Given the description of an element on the screen output the (x, y) to click on. 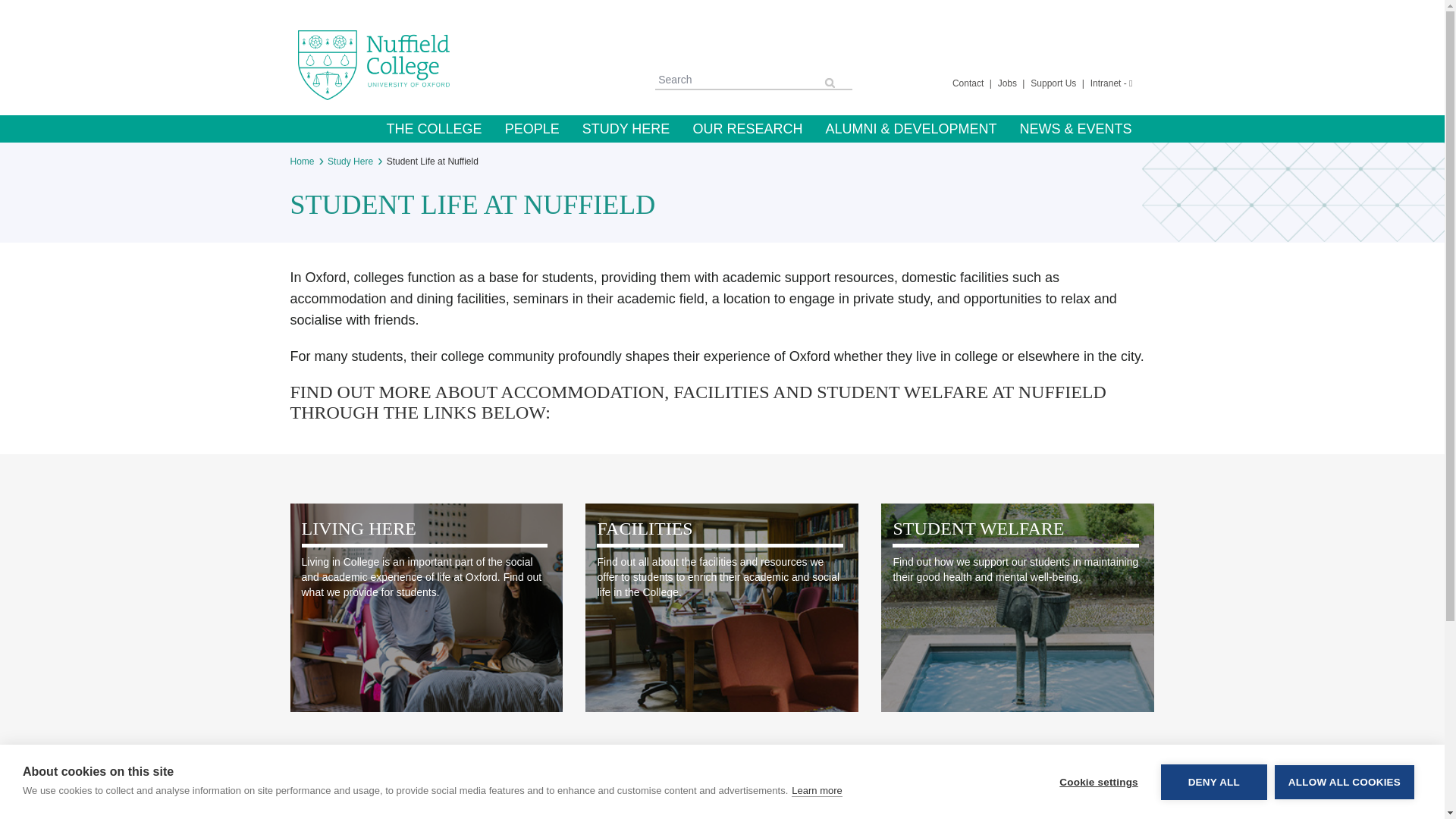
Contact (969, 82)
Support Us (1054, 82)
Jobs (1008, 82)
Search (738, 78)
Cookie settings (1098, 816)
DENY ALL (1213, 807)
Intranet - (1111, 82)
ALLOW ALL COOKIES (1344, 804)
THE COLLEGE (434, 128)
